Given the description of an element on the screen output the (x, y) to click on. 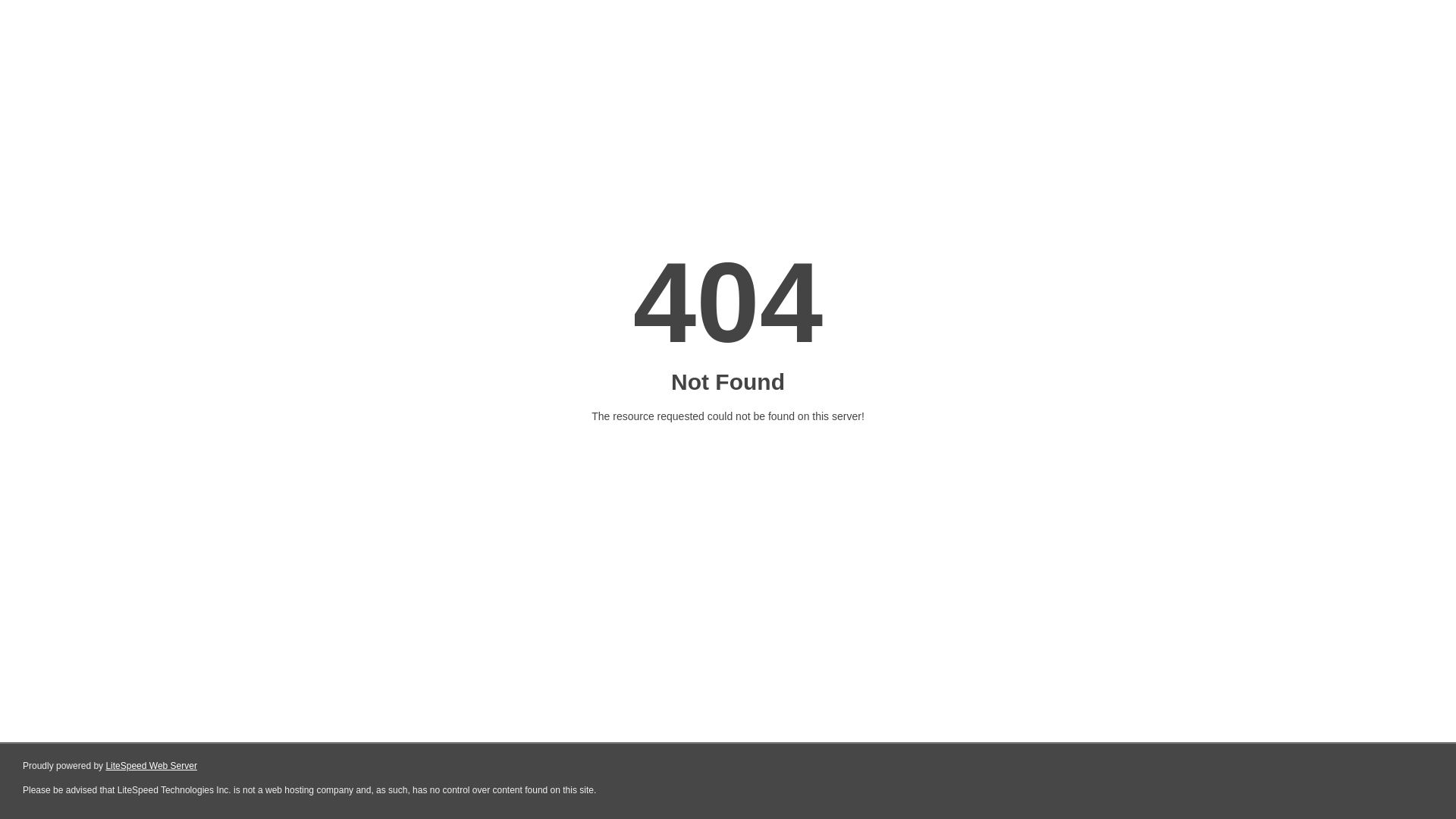
LiteSpeed Web Server Element type: text (151, 765)
